Given the description of an element on the screen output the (x, y) to click on. 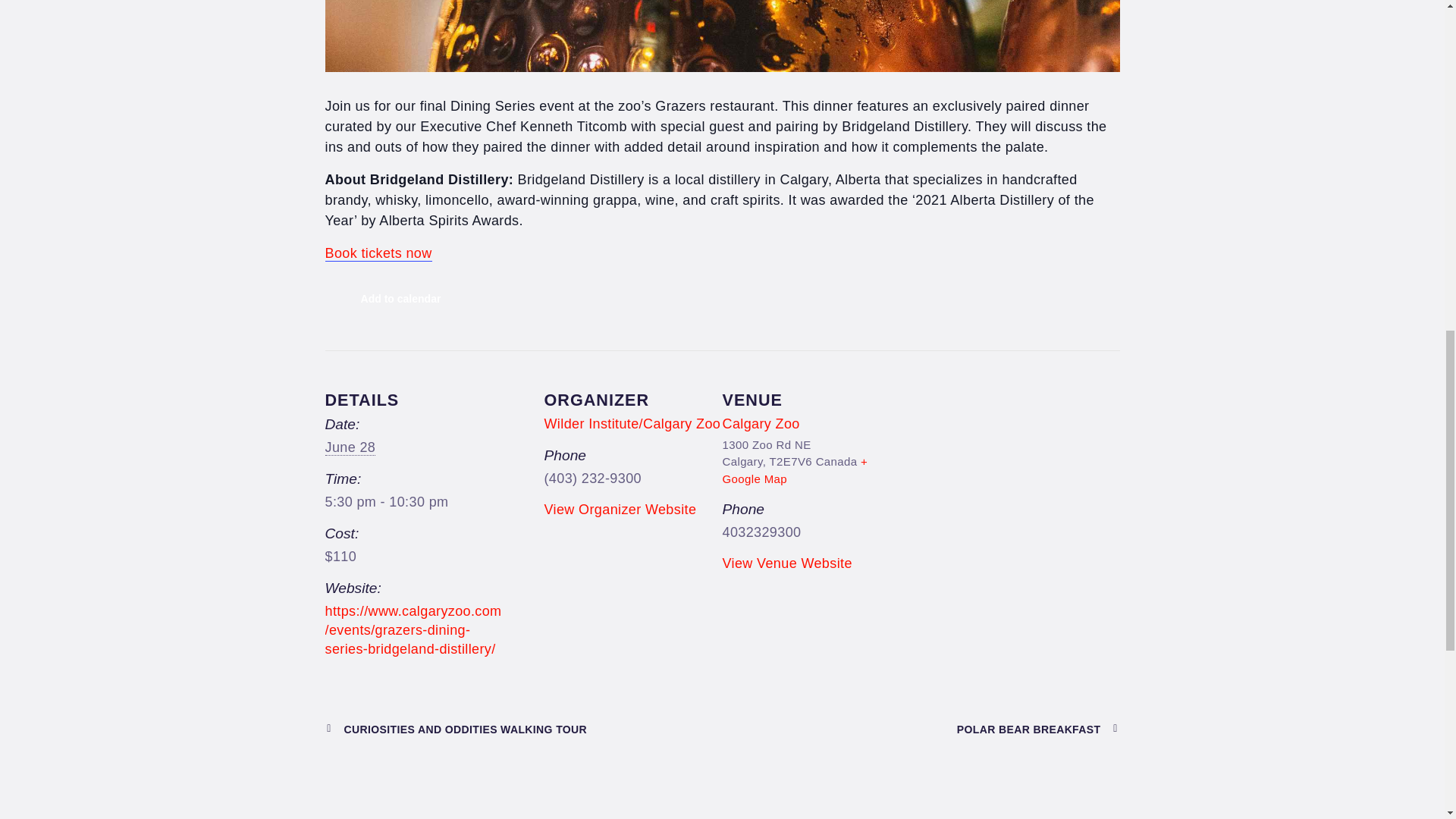
Click to view a Google Map (794, 470)
Google maps iframe displaying the address to Calgary Zoo (1019, 471)
2024-06-28 (349, 447)
2024-06-28 (413, 502)
